Given the description of an element on the screen output the (x, y) to click on. 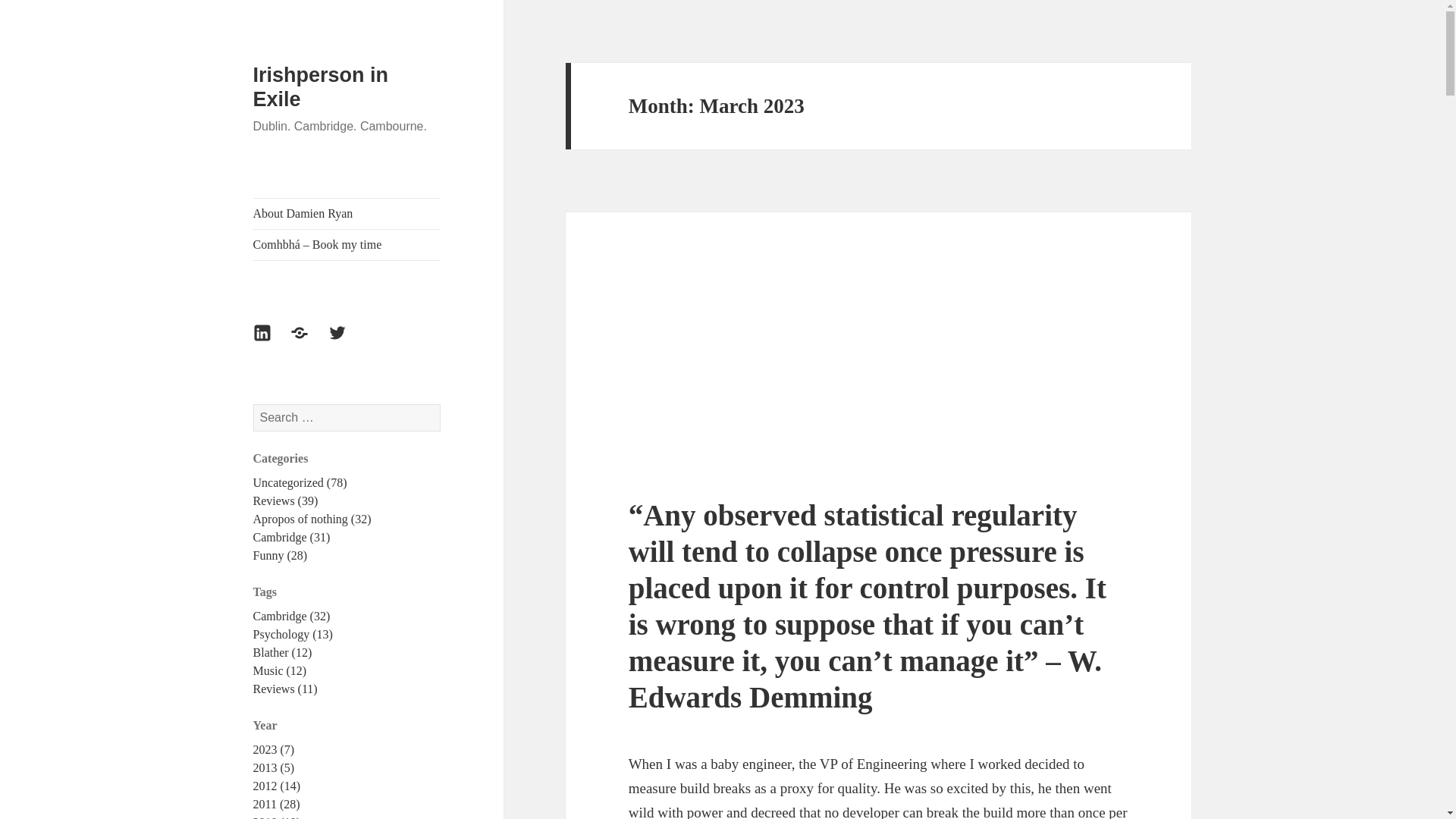
Mastodon (307, 341)
LinkedIn (271, 341)
About Damien Ryan (347, 214)
Irishperson in Exile (320, 86)
Twitter (347, 341)
